Given the description of an element on the screen output the (x, y) to click on. 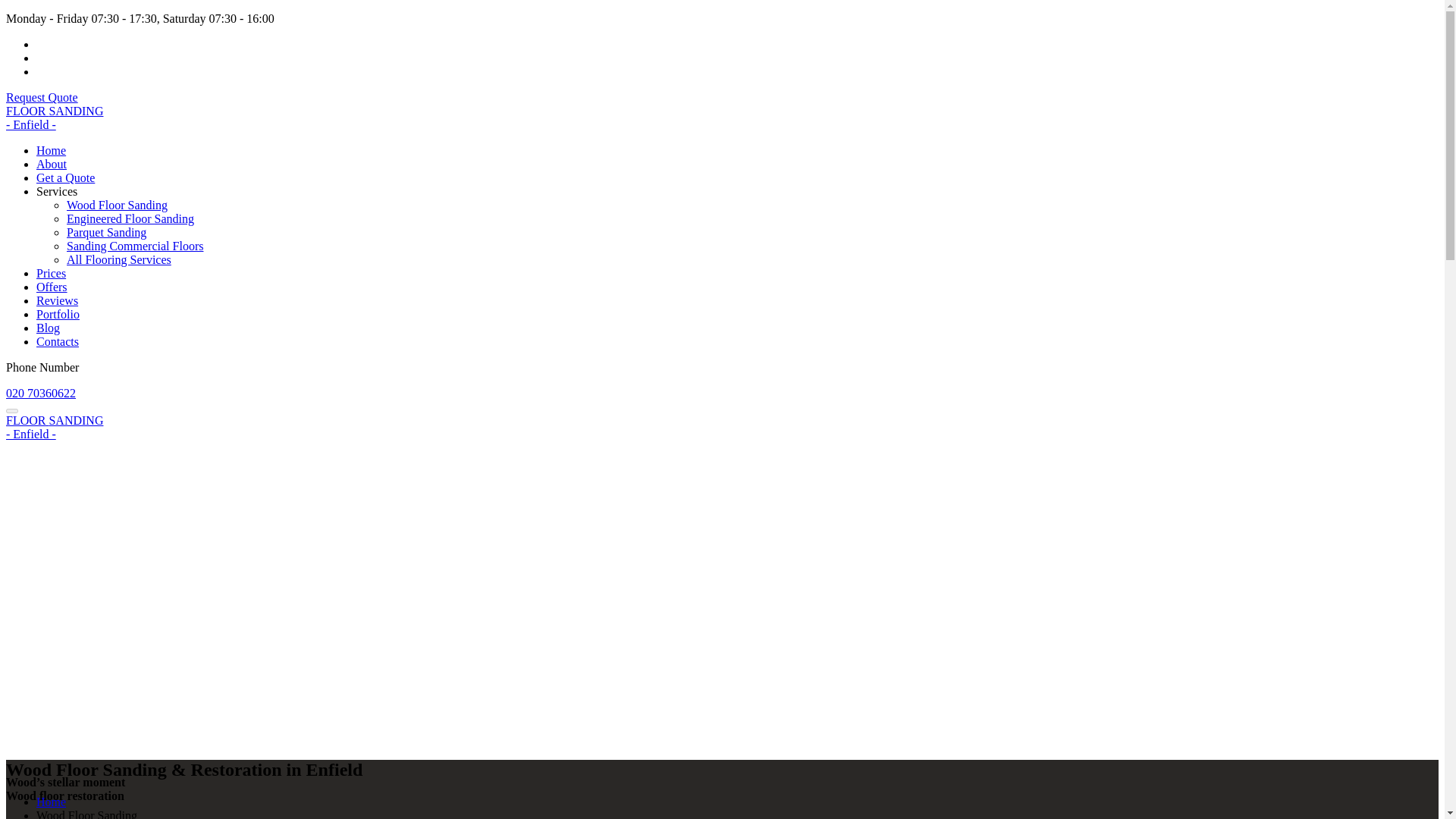
Portfolio (58, 314)
Reviews (57, 300)
Get a Quote (65, 177)
About (51, 164)
Services (56, 191)
Contacts (57, 341)
Offers (51, 286)
All Flooring Services (118, 259)
Request Quote (41, 97)
Home (50, 150)
